Given the description of an element on the screen output the (x, y) to click on. 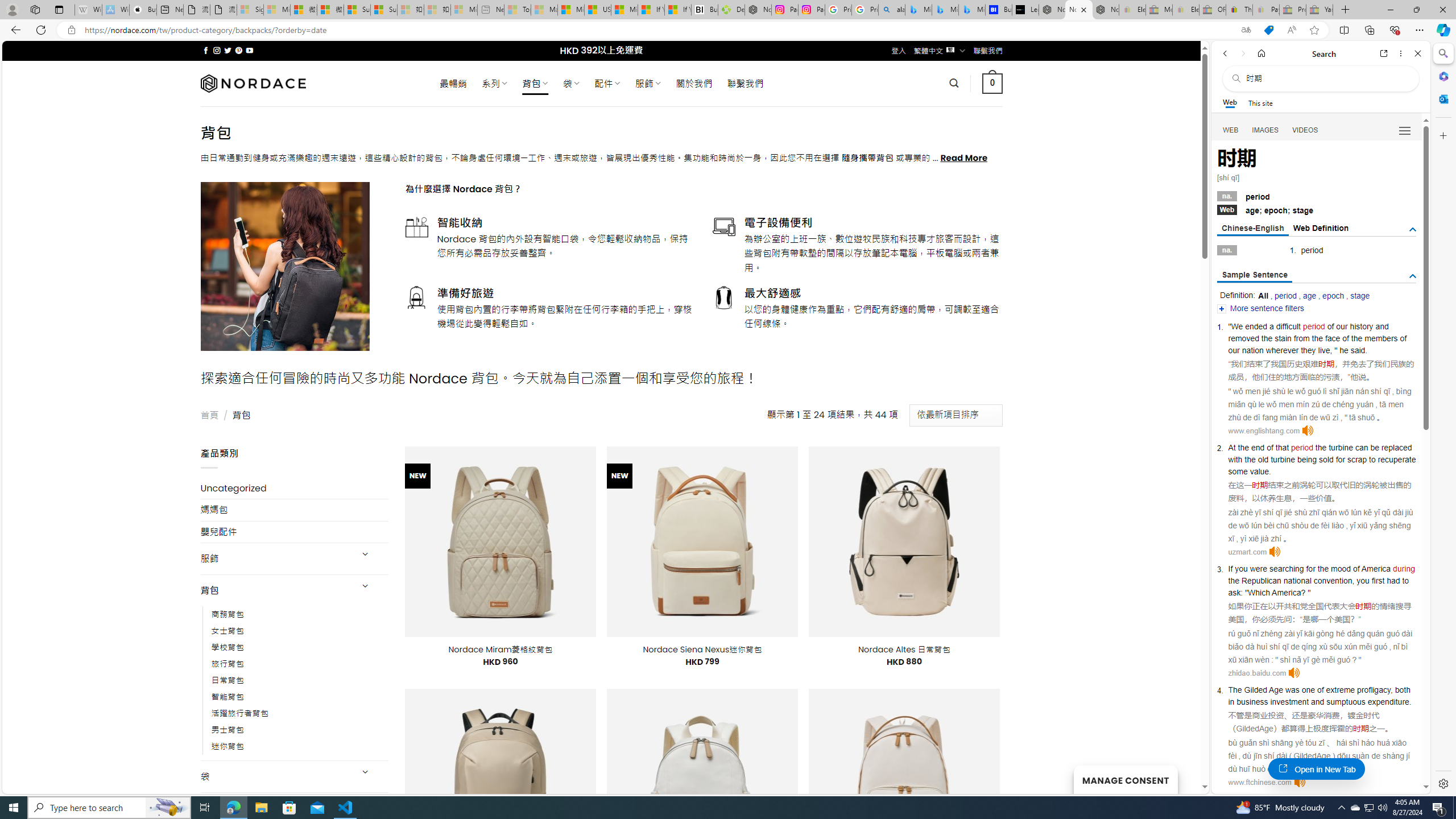
Web scope (1230, 102)
stage (1359, 295)
www.englishtang.com (1263, 430)
